Given the description of an element on the screen output the (x, y) to click on. 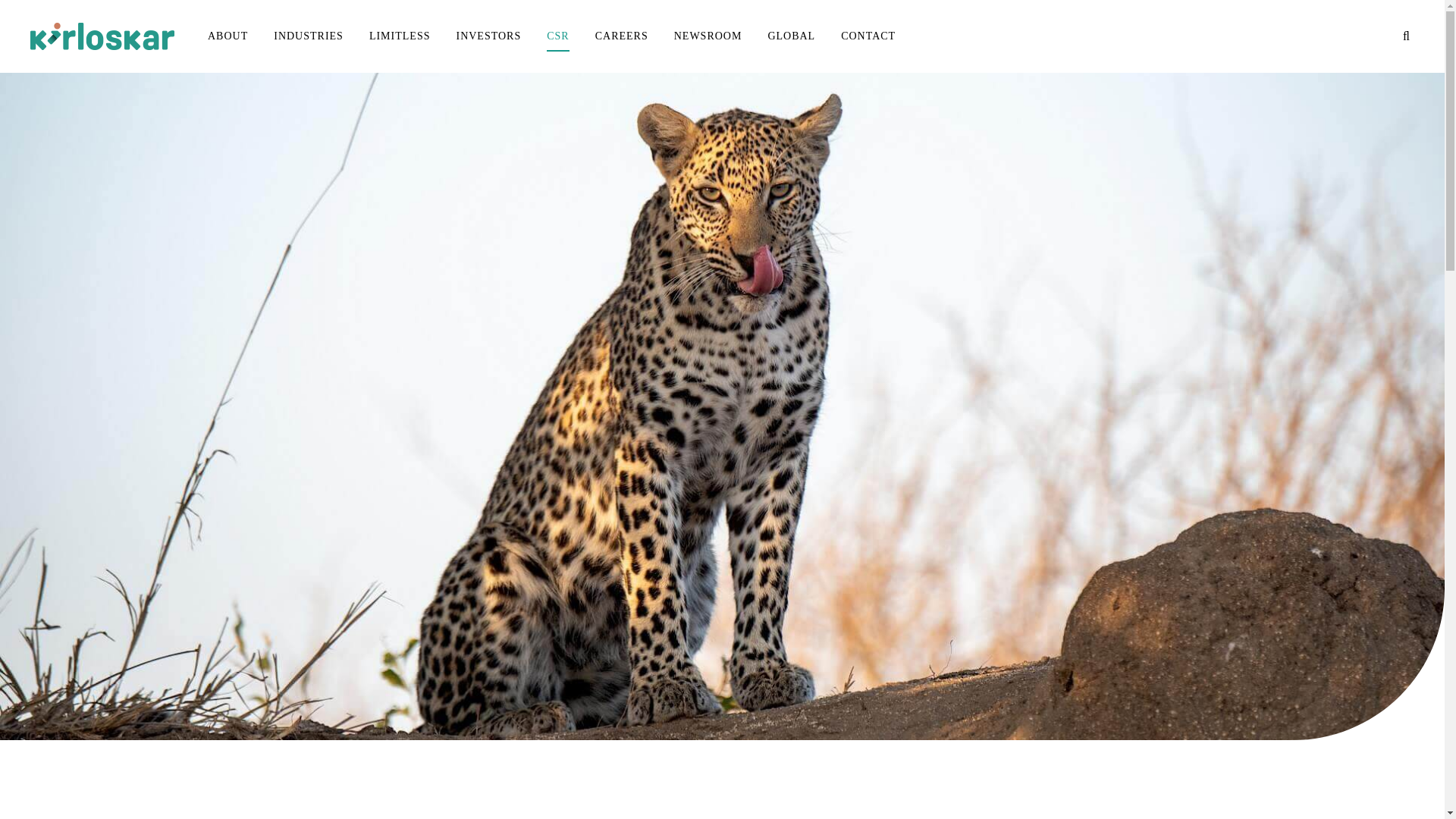
CSR (557, 35)
GLOBAL (791, 35)
INDUSTRIES (308, 35)
Go to Kirloskar Limitless (102, 35)
NEWSROOM (708, 35)
INVESTORS (488, 35)
ABOUT (227, 35)
CAREERS (621, 35)
LIMITLESS (400, 35)
